Given the description of an element on the screen output the (x, y) to click on. 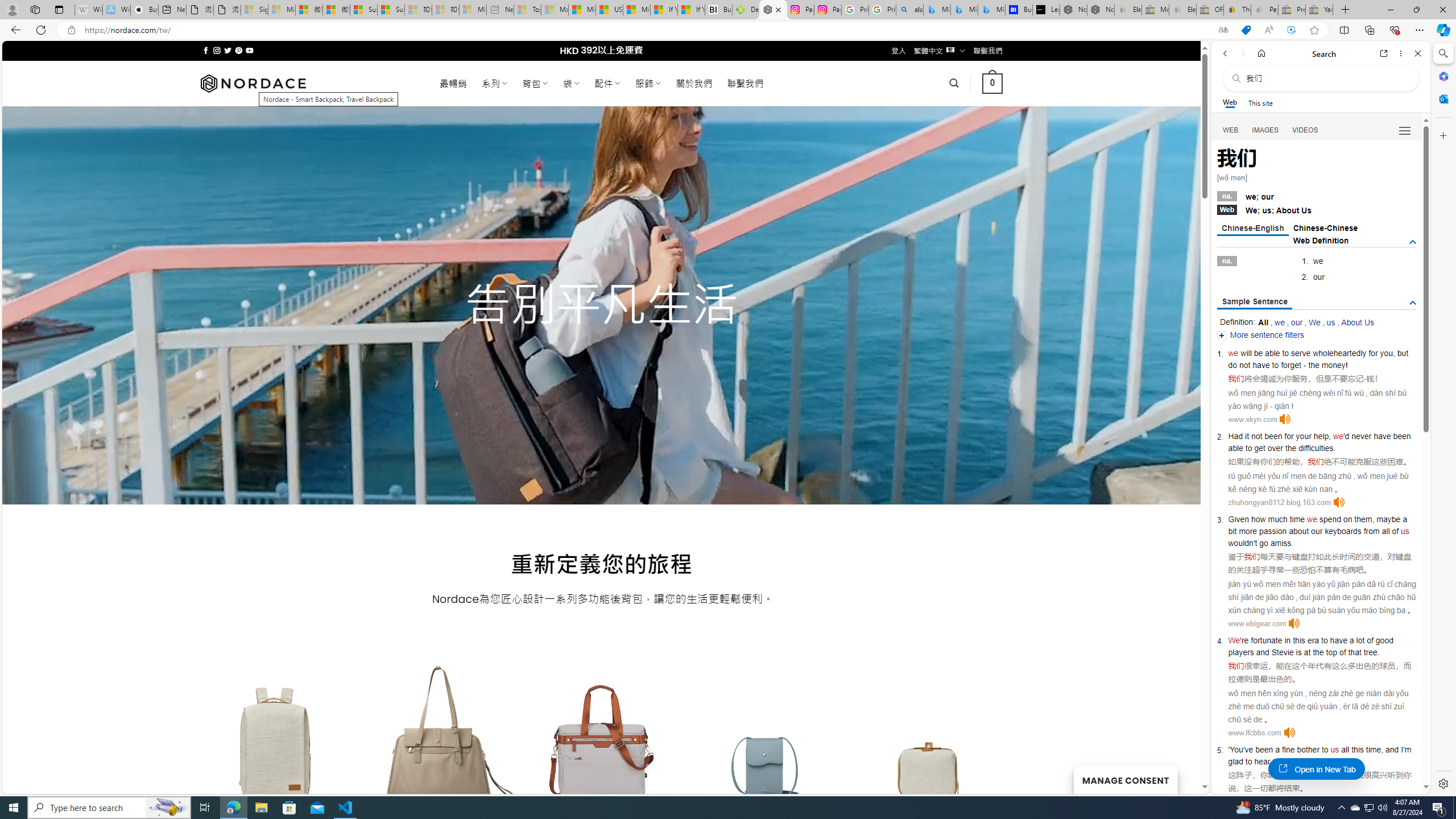
top (1331, 651)
- (1364, 378)
our (1296, 322)
all (1344, 749)
hear (1262, 760)
